Given the description of an element on the screen output the (x, y) to click on. 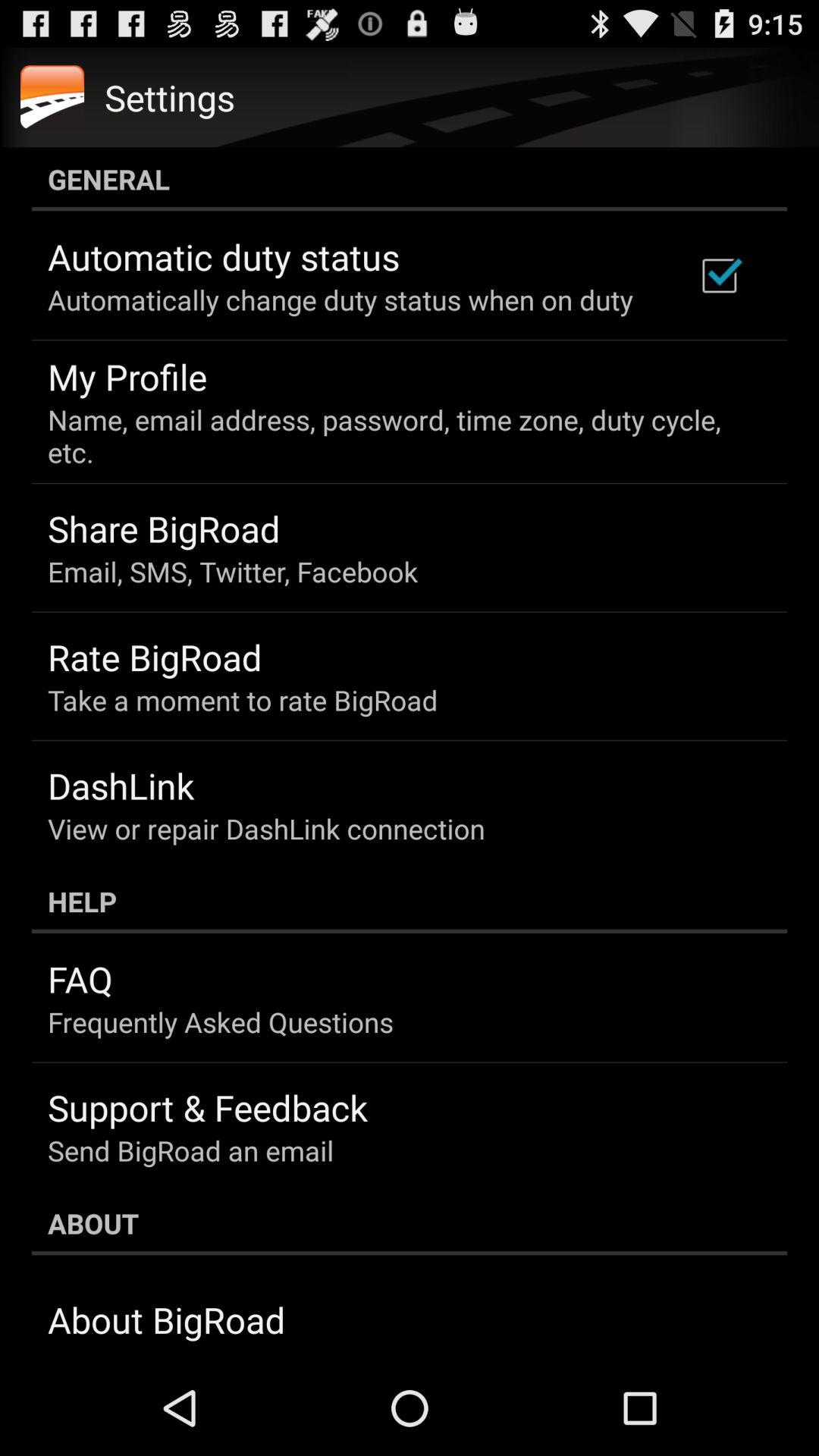
click app below the automatic duty status item (340, 299)
